Given the description of an element on the screen output the (x, y) to click on. 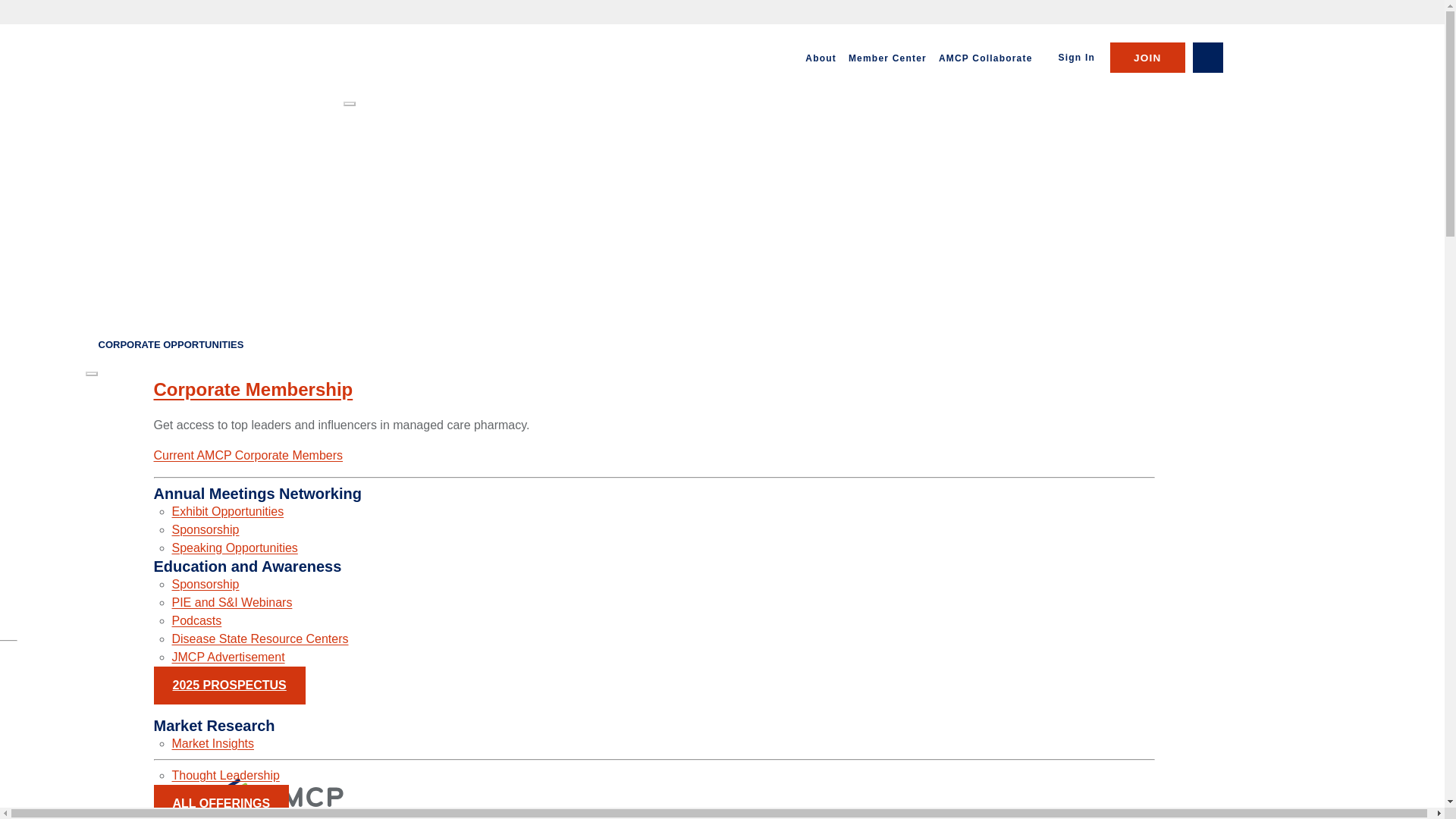
AMCP Collaborate (985, 58)
Member Center (887, 58)
JOIN (1147, 57)
Sign In (1076, 57)
Search (1207, 57)
About (821, 58)
Sign In (1076, 57)
Go to the search page (1207, 57)
